Given the description of an element on the screen output the (x, y) to click on. 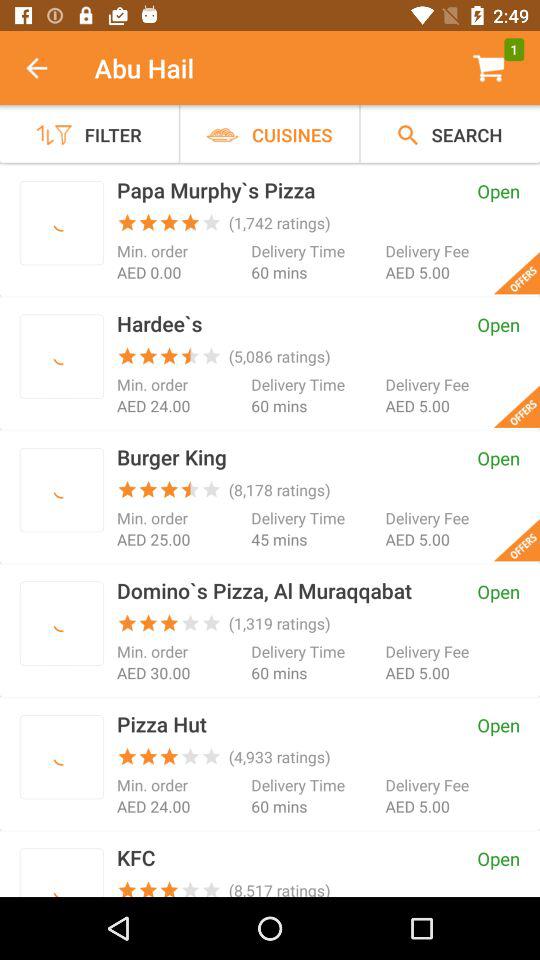
call to order (61, 222)
